Given the description of an element on the screen output the (x, y) to click on. 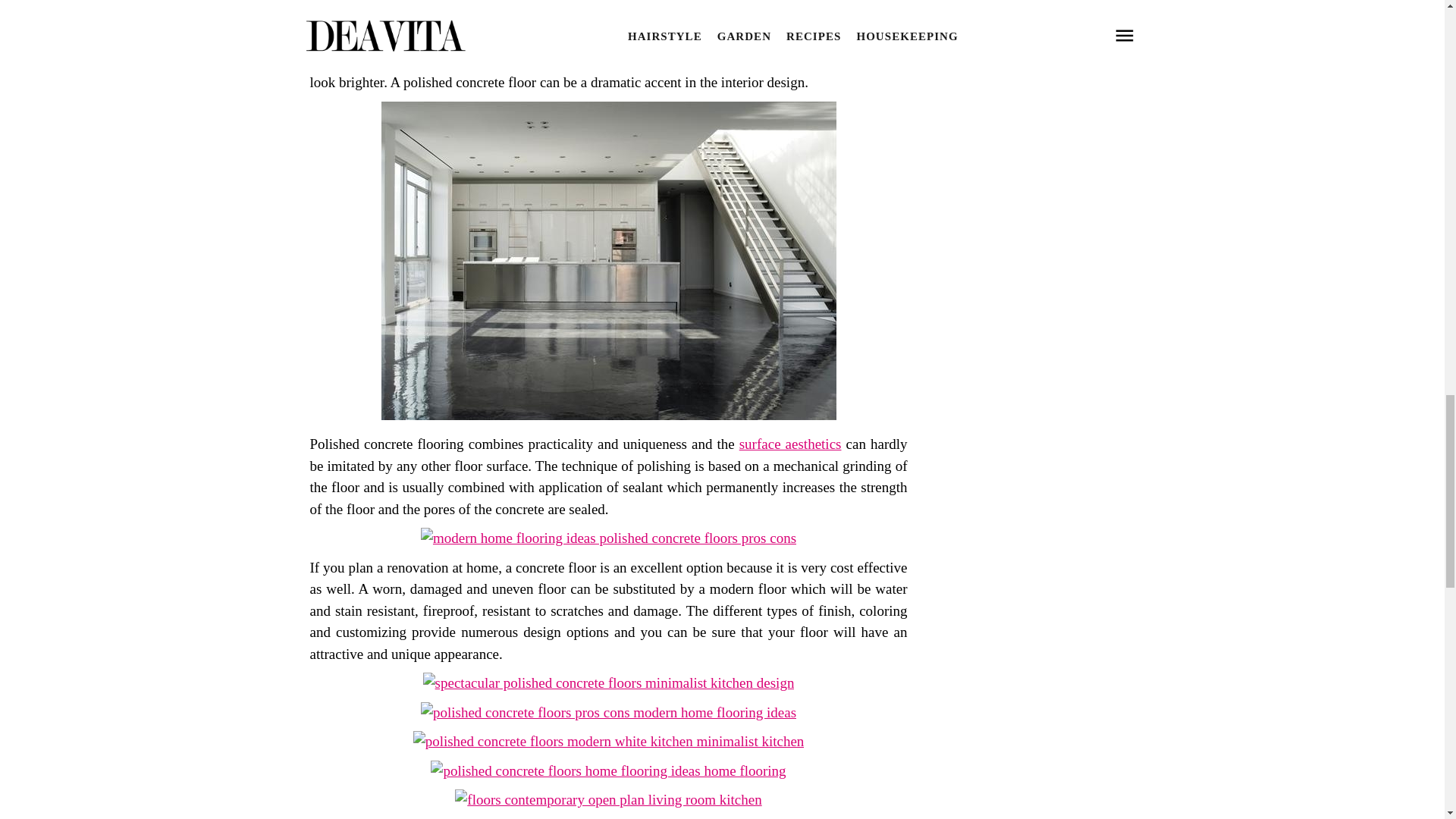
Polished concrete floors home flooring ideas home flooring (608, 770)
